Given the description of an element on the screen output the (x, y) to click on. 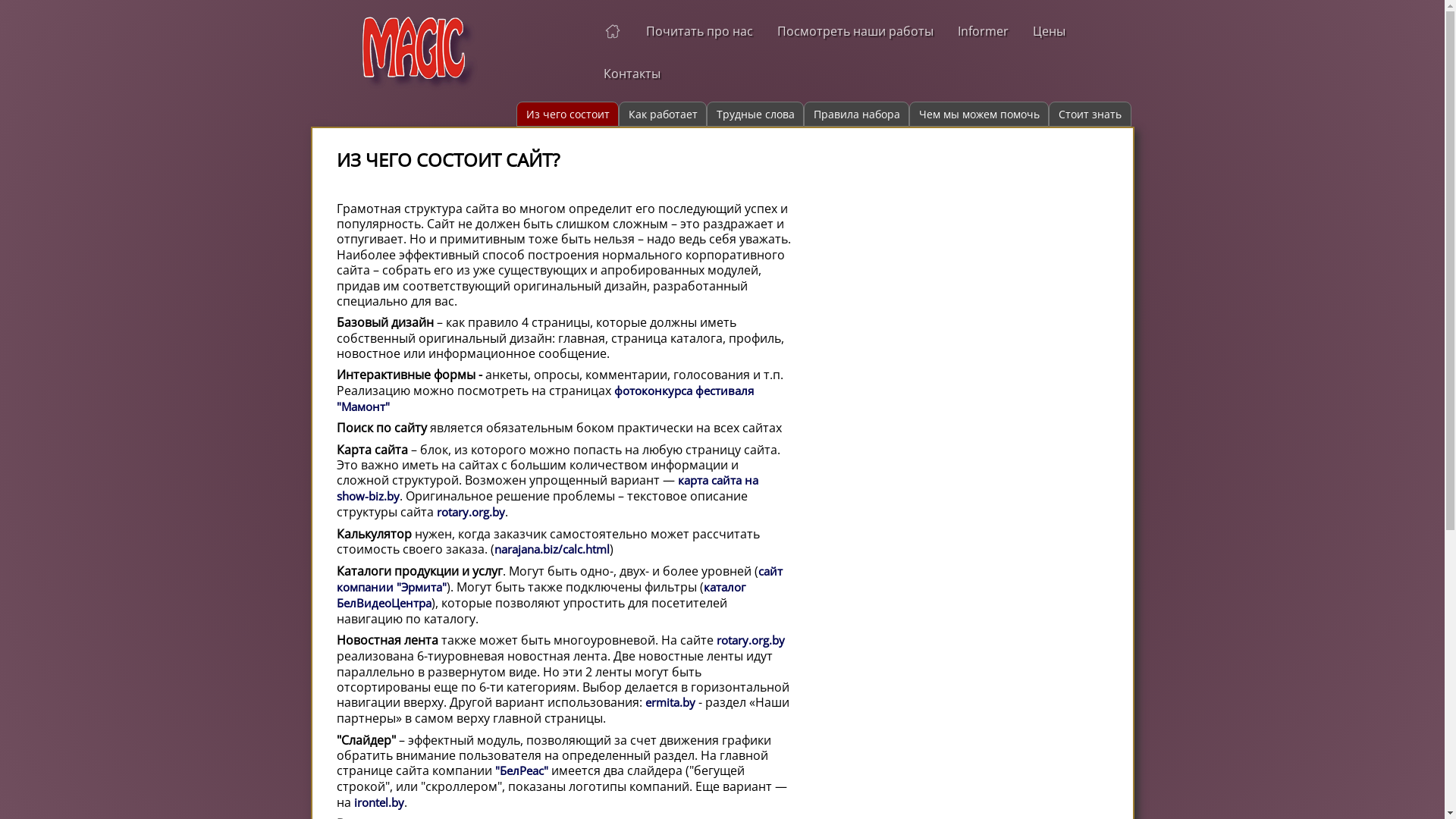
Informer Element type: text (982, 30)
ermita.by Element type: text (669, 702)
narajana.biz/calc.html Element type: text (551, 549)
rotary.org.by Element type: text (470, 512)
irontel.by Element type: text (378, 802)
rotary.org.by Element type: text (749, 640)
